Given the description of an element on the screen output the (x, y) to click on. 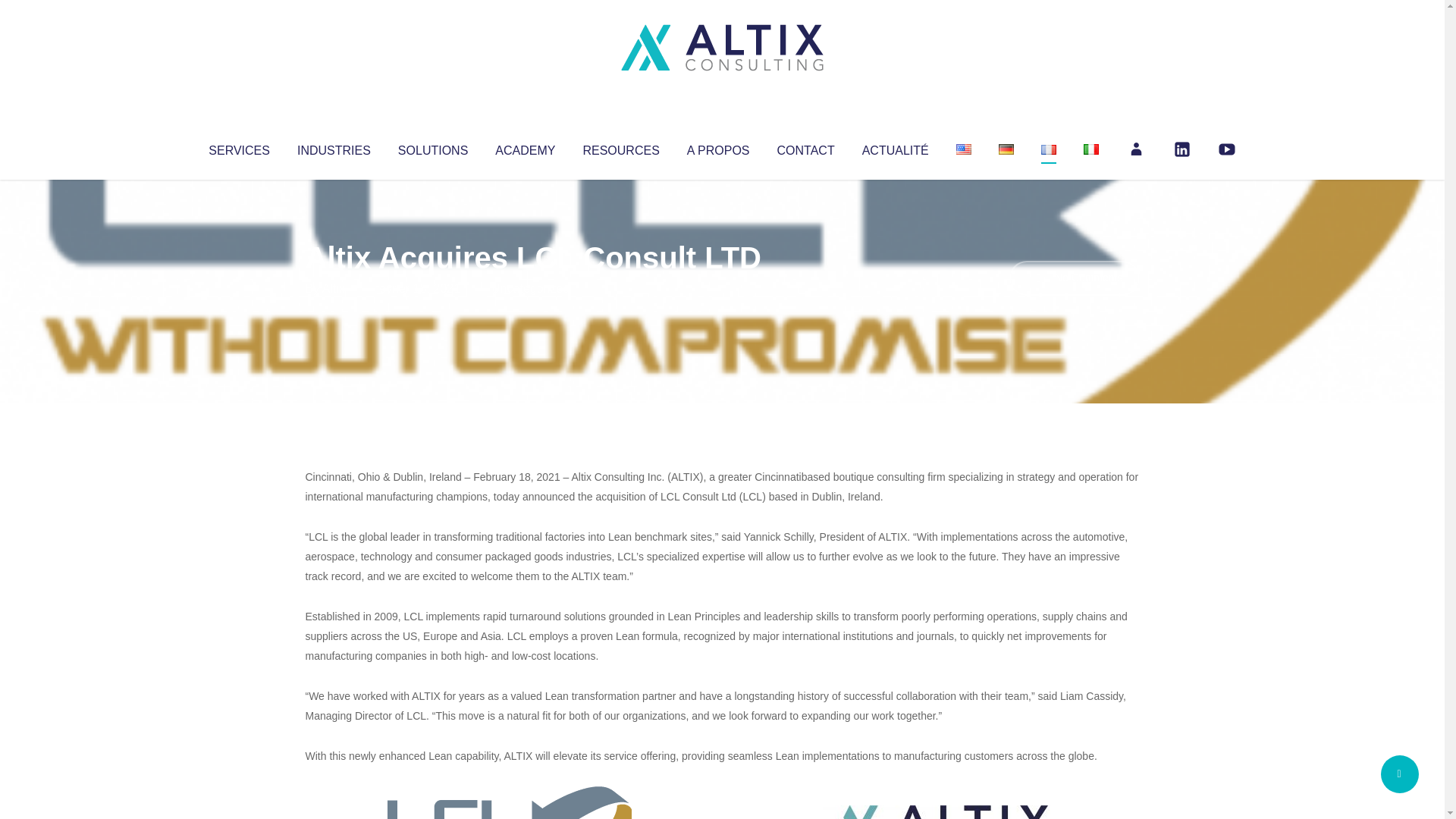
No Comments (1073, 278)
Articles par Altix (333, 287)
INDUSTRIES (334, 146)
RESOURCES (620, 146)
SERVICES (238, 146)
A PROPOS (718, 146)
ACADEMY (524, 146)
Uncategorized (530, 287)
Altix (333, 287)
SOLUTIONS (432, 146)
